Given the description of an element on the screen output the (x, y) to click on. 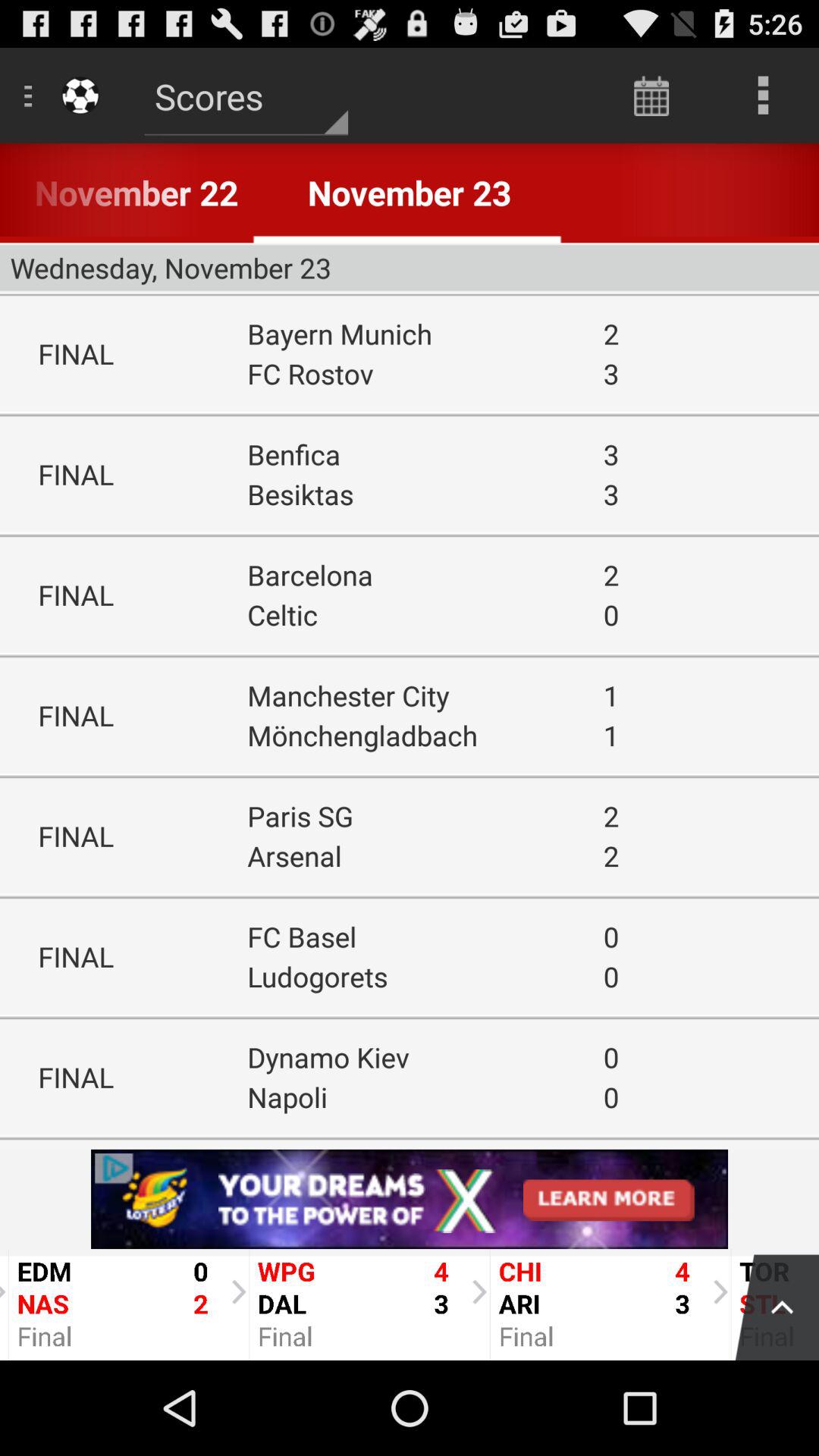
menu (769, 1304)
